Given the description of an element on the screen output the (x, y) to click on. 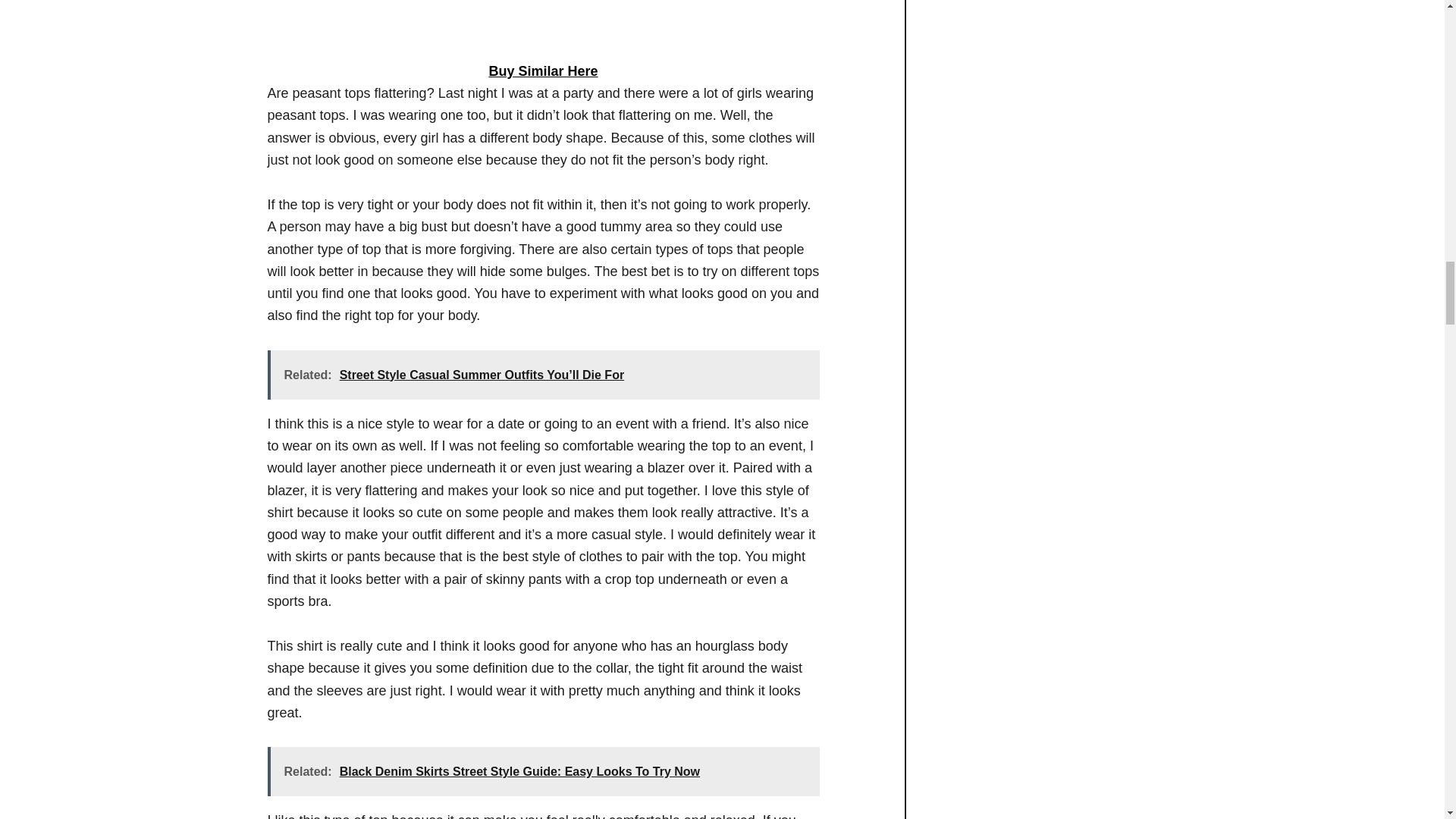
Buy Similar Here (541, 70)
Are Peasant Tops Trendy Now 2023 (542, 18)
